Given the description of an element on the screen output the (x, y) to click on. 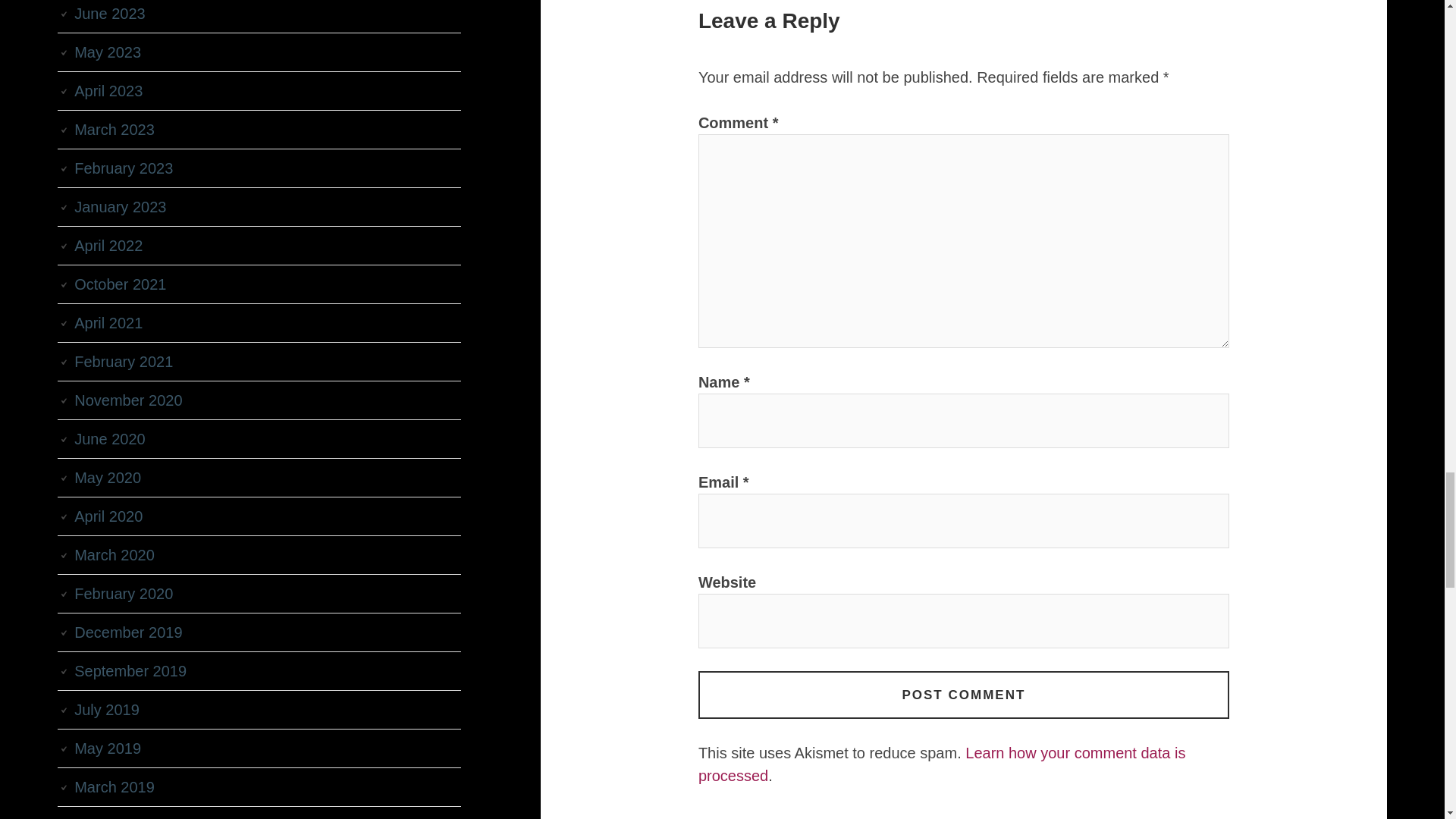
Learn how your comment data is processed (942, 763)
Post Comment (963, 694)
Post Comment (963, 694)
